Given the description of an element on the screen output the (x, y) to click on. 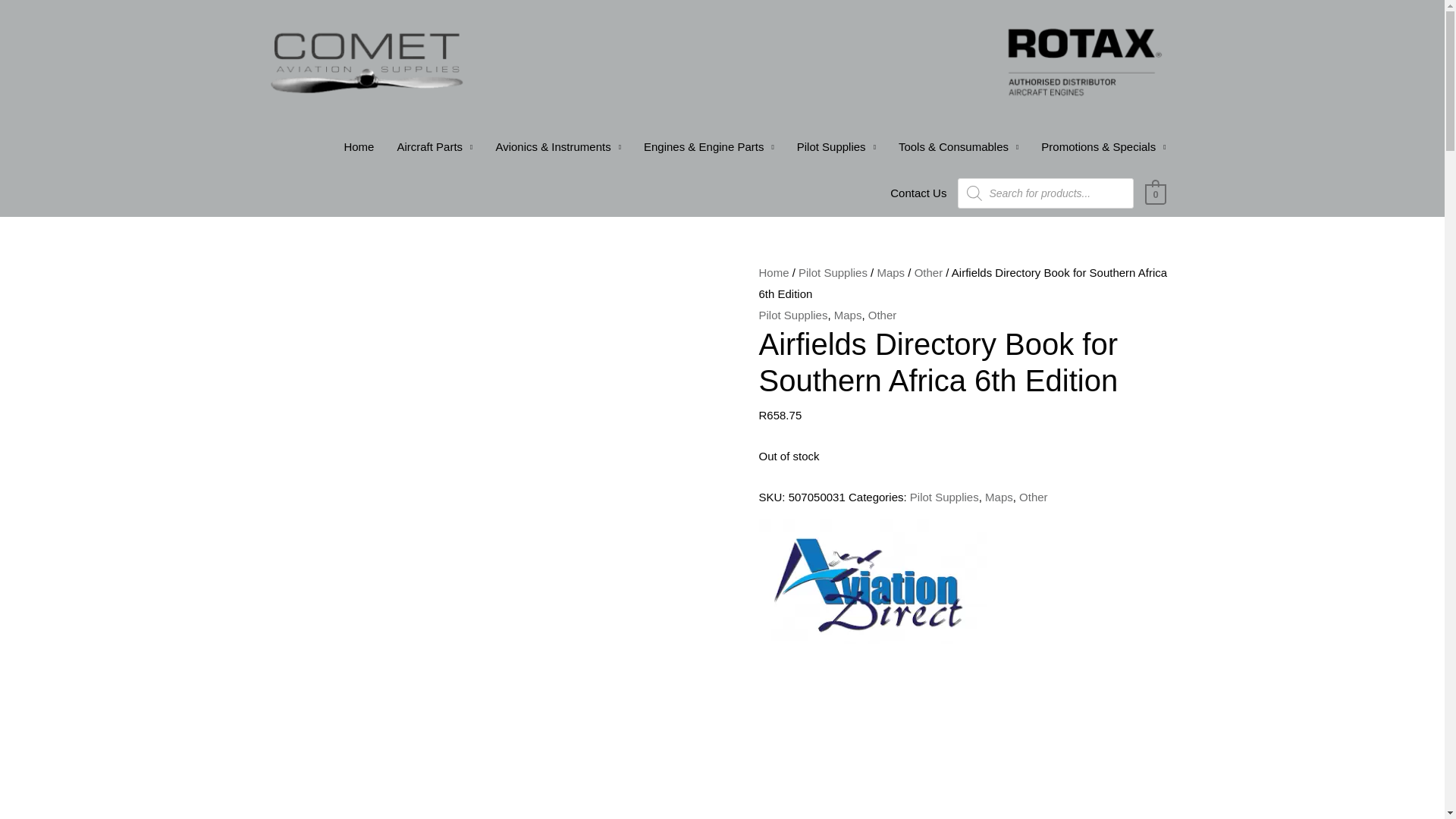
Home (358, 146)
Aviation Direct (871, 581)
Aircraft Parts (434, 146)
